Given the description of an element on the screen output the (x, y) to click on. 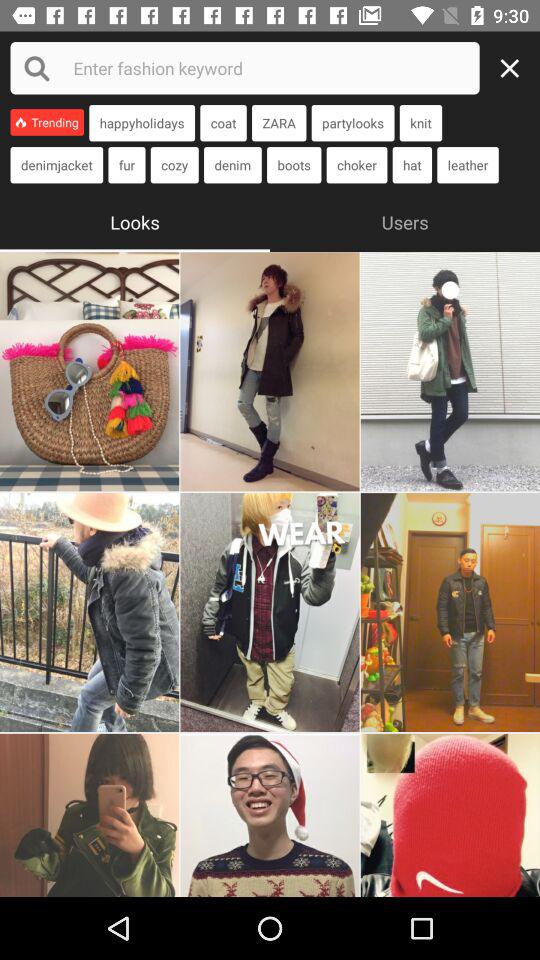
swipe until the users item (405, 220)
